Given the description of an element on the screen output the (x, y) to click on. 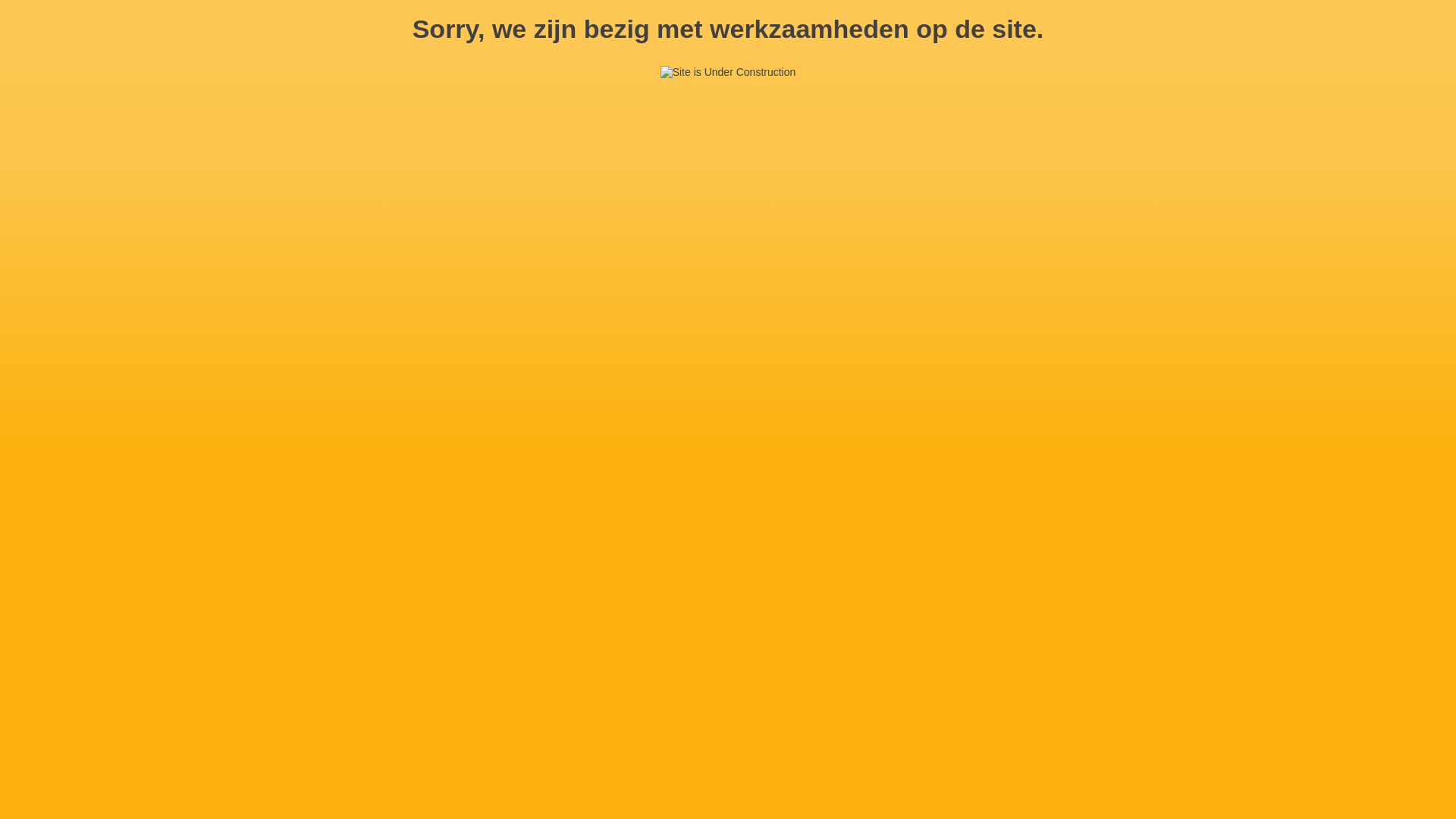
Site is Under Construction Element type: hover (728, 71)
